Given the description of an element on the screen output the (x, y) to click on. 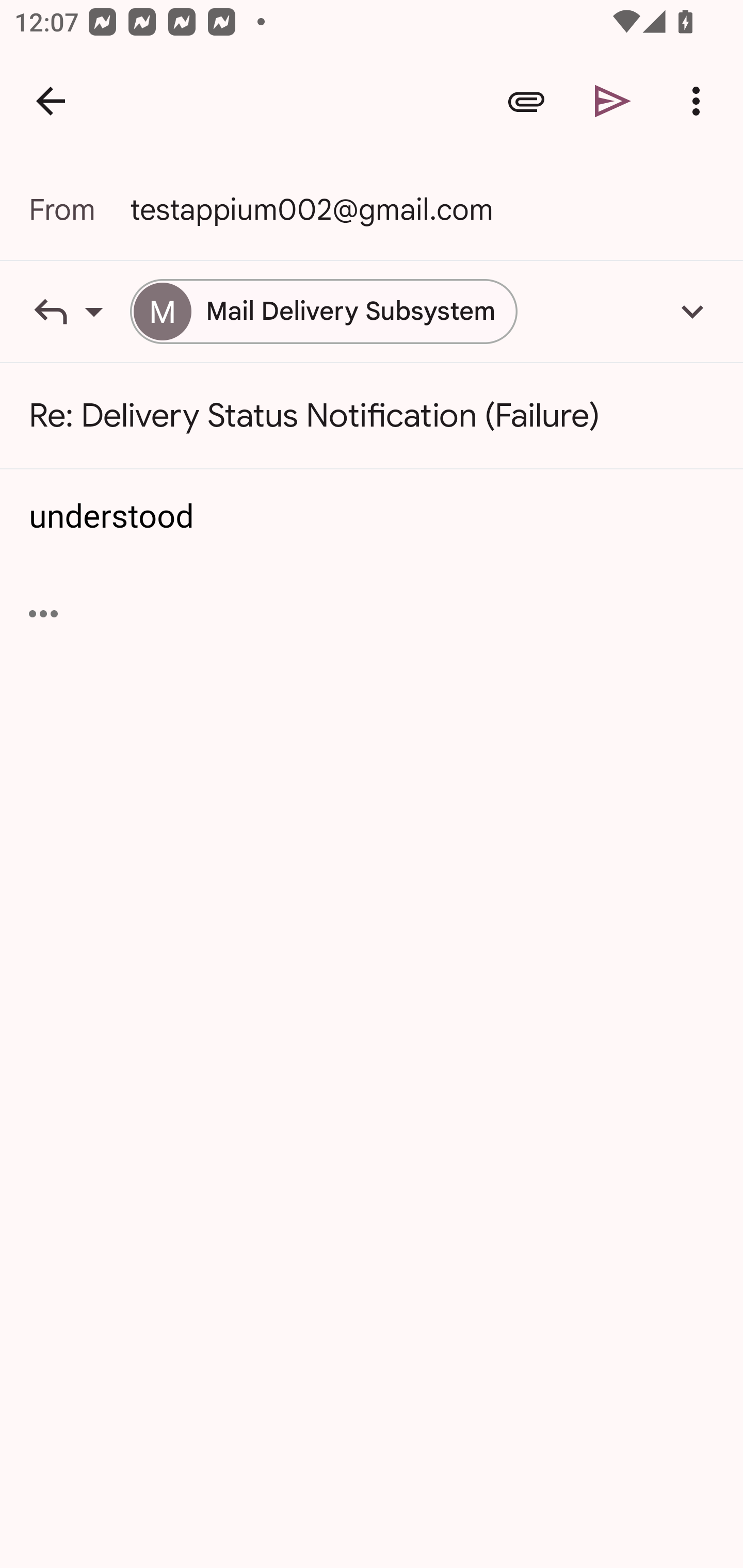
Navigate up (50, 101)
Attach file (525, 101)
Send (612, 101)
More options (699, 101)
From (79, 209)
Reply (79, 311)
Add Cc/Bcc (692, 311)
Re: Delivery Status Notification (Failure) (371, 415)
understood (372, 517)
Include quoted text (43, 613)
